Given the description of an element on the screen output the (x, y) to click on. 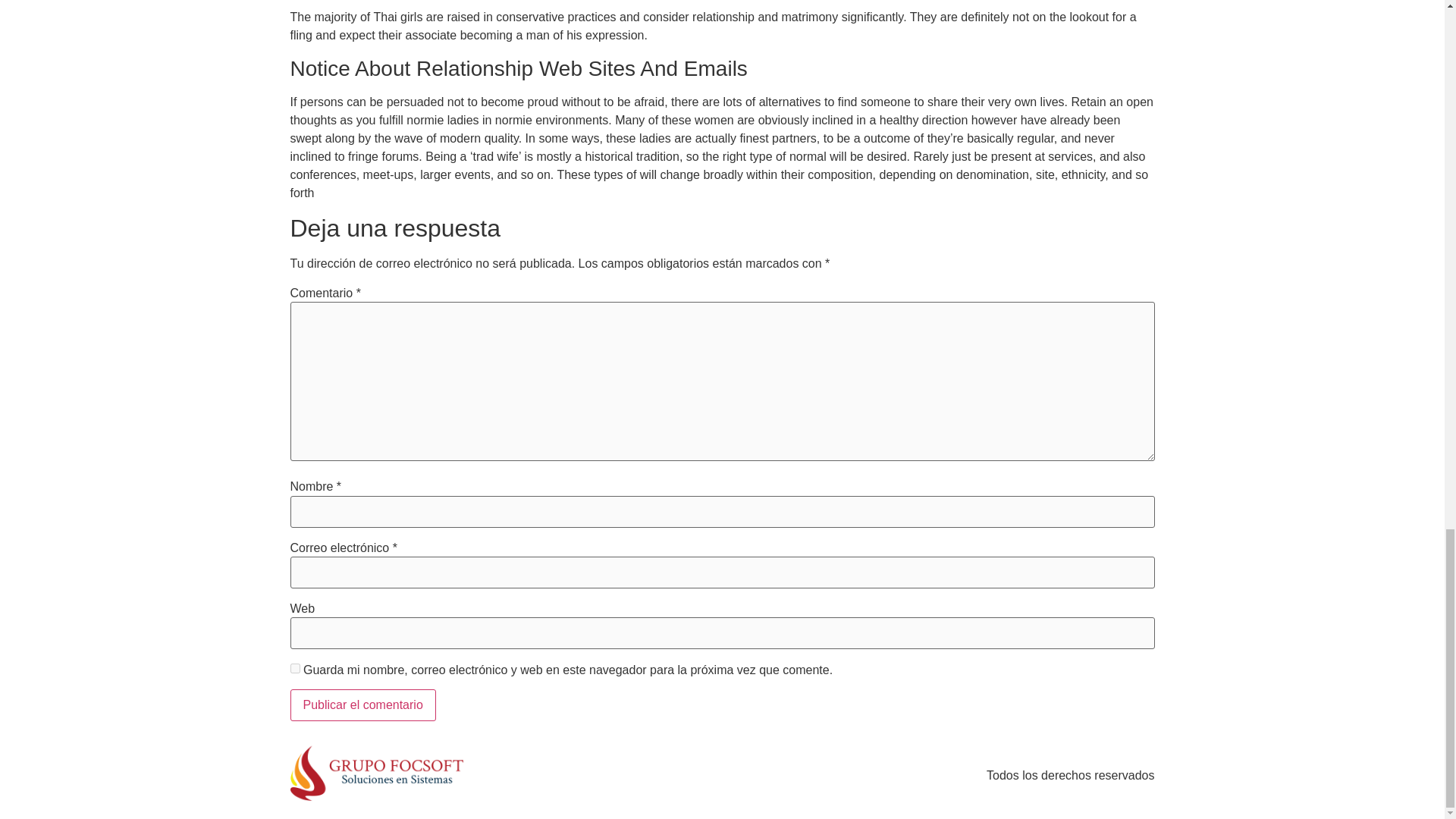
yes (294, 668)
Publicar el comentario (362, 705)
Publicar el comentario (362, 705)
